Given the description of an element on the screen output the (x, y) to click on. 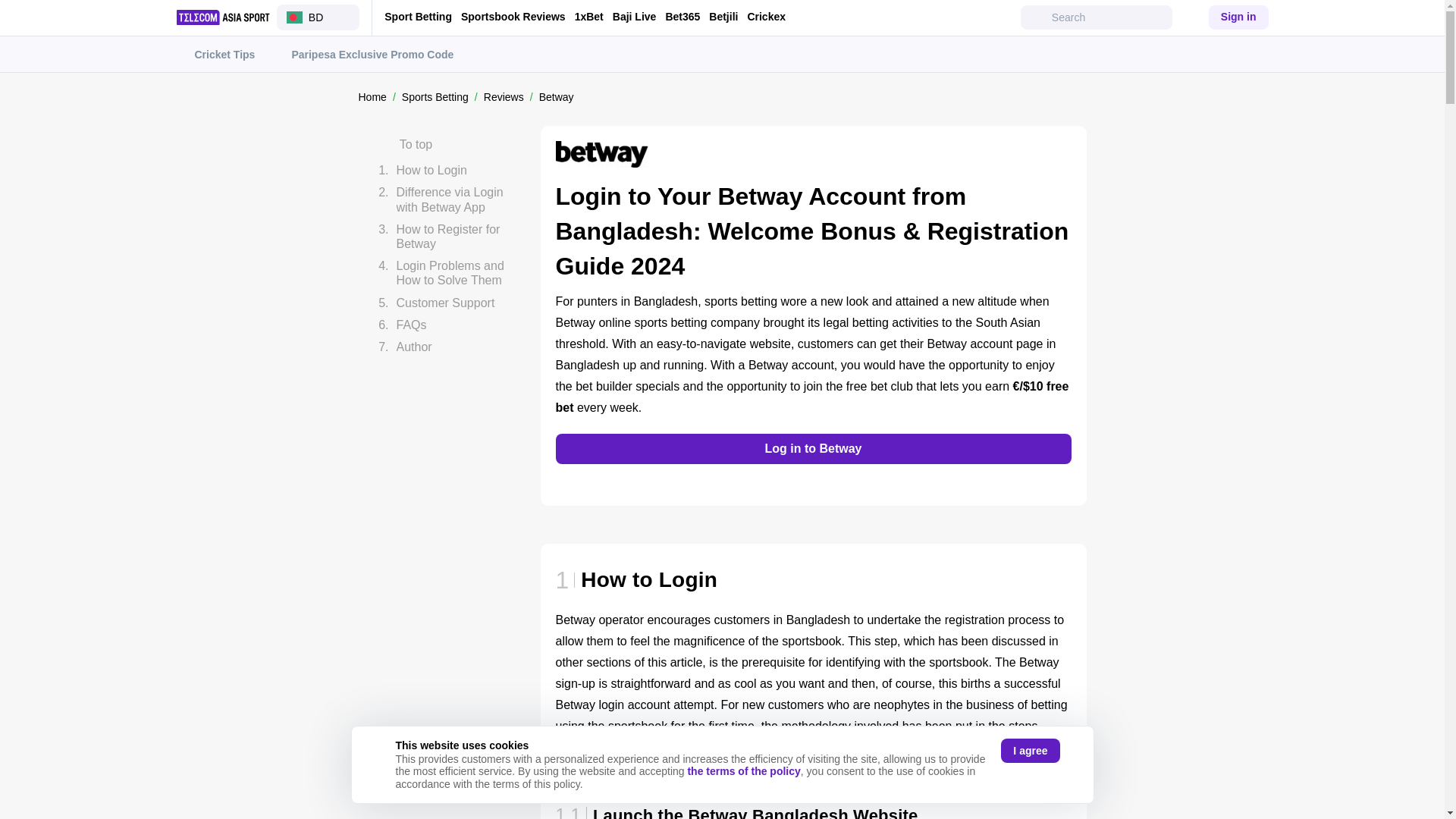
Sport Betting (417, 16)
BD (317, 17)
Sportsbook Reviews (513, 16)
